Given the description of an element on the screen output the (x, y) to click on. 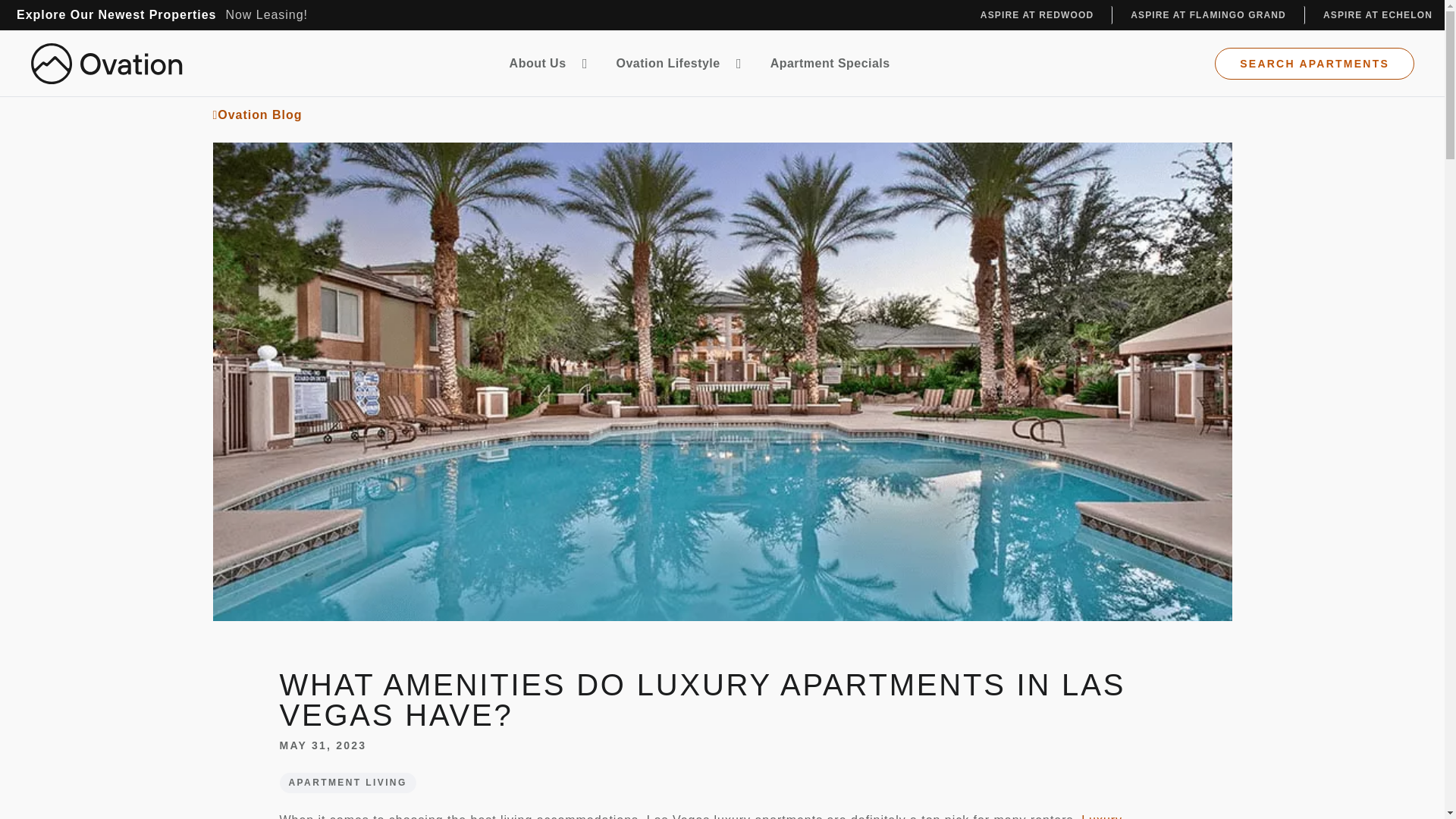
About Us (550, 63)
ASPIRE AT REDWOOD (1037, 14)
ASPIRE AT FLAMINGO GRAND (1208, 14)
Ovation Lifestyle (680, 63)
SEARCH APARTMENTS (1313, 62)
Ovation Blog (721, 105)
Apartment Specials (829, 63)
